Given the description of an element on the screen output the (x, y) to click on. 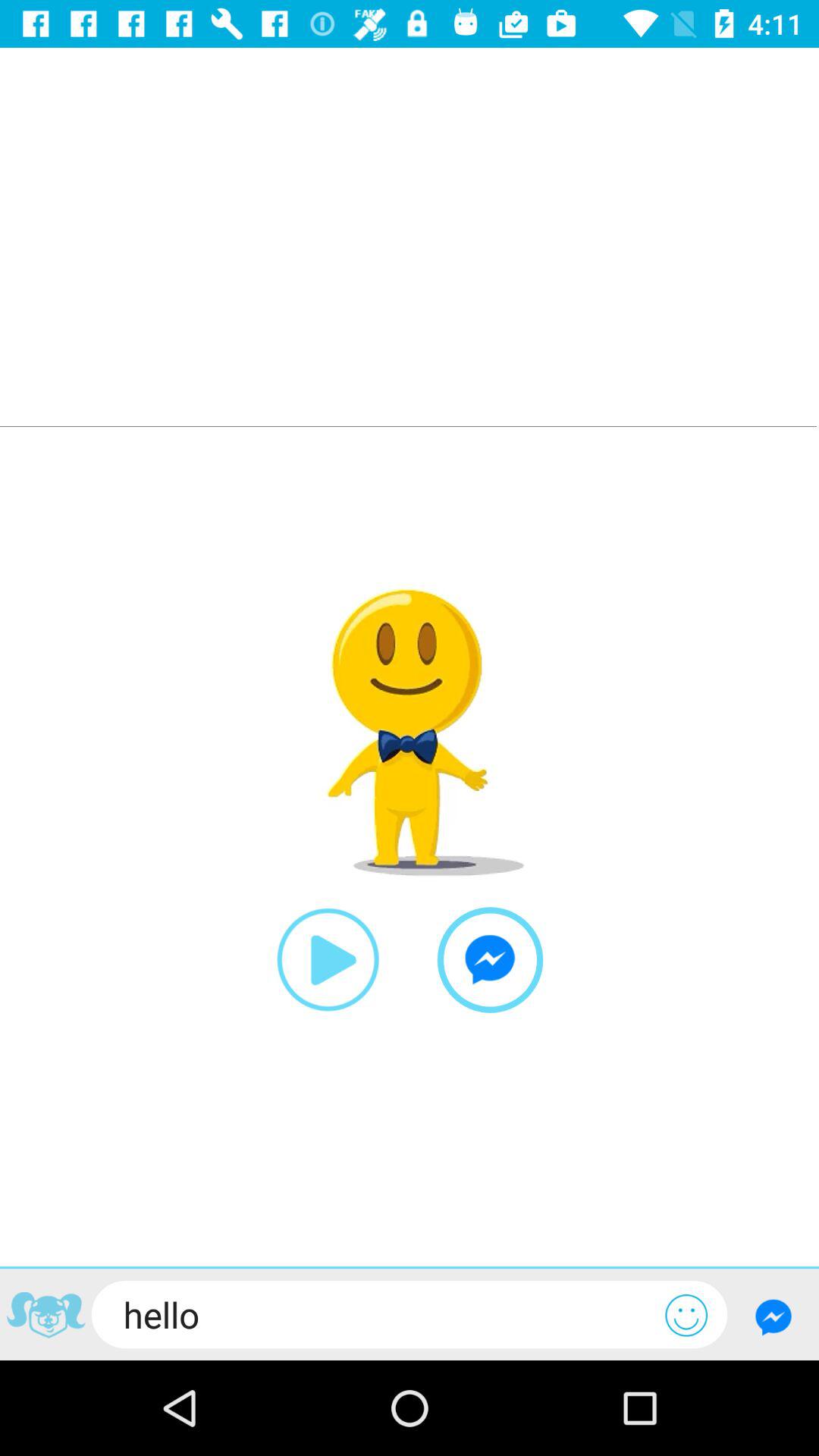
message (773, 1316)
